Given the description of an element on the screen output the (x, y) to click on. 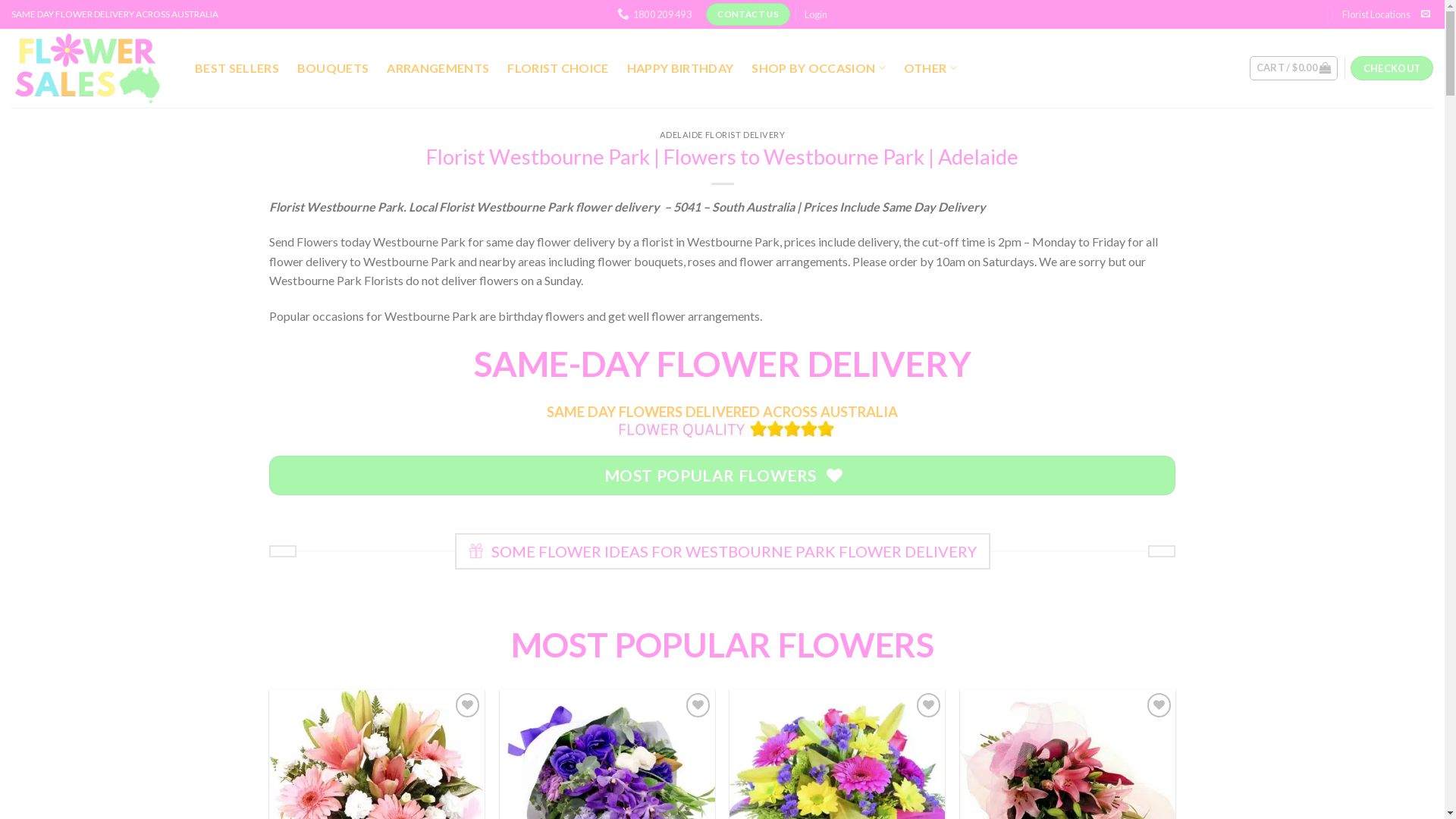
CART / $0.00 Element type: text (1293, 68)
1800 209 493 Element type: text (654, 14)
BEST SELLERS Element type: text (236, 68)
Florist Locations Element type: text (1376, 14)
CHECKOUT Element type: text (1391, 68)
ADELAIDE FLORIST DELIVERY Element type: text (722, 134)
OTHER Element type: text (930, 68)
Login Element type: text (815, 14)
HAPPY BIRTHDAY Element type: text (680, 68)
ARRANGEMENTS Element type: text (437, 68)
BOUQUETS Element type: text (333, 68)
MOST POPULAR FLOWERS Element type: text (722, 475)
CONTACT US Element type: text (747, 14)
Send us an email Element type: hover (1425, 14)
FLORIST CHOICE Element type: text (557, 68)
SHOP BY OCCASION Element type: text (818, 68)
